Given the description of an element on the screen output the (x, y) to click on. 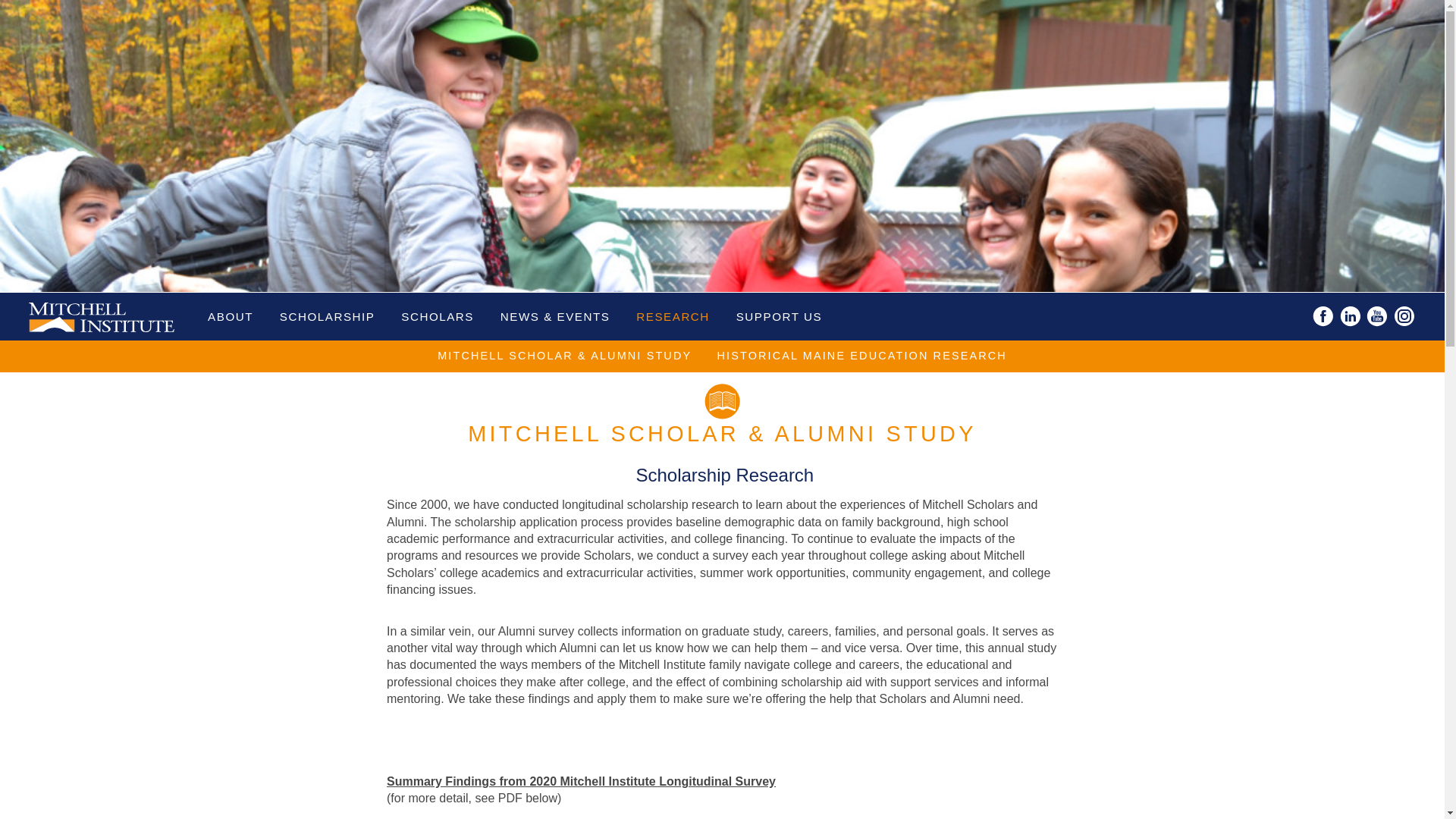
SUPPORT US (779, 315)
SCHOLARS (437, 315)
RESEARCH (672, 315)
HISTORICAL MAINE EDUCATION RESEARCH (861, 356)
SCHOLARSHIP (327, 315)
ABOUT (230, 315)
